Given the description of an element on the screen output the (x, y) to click on. 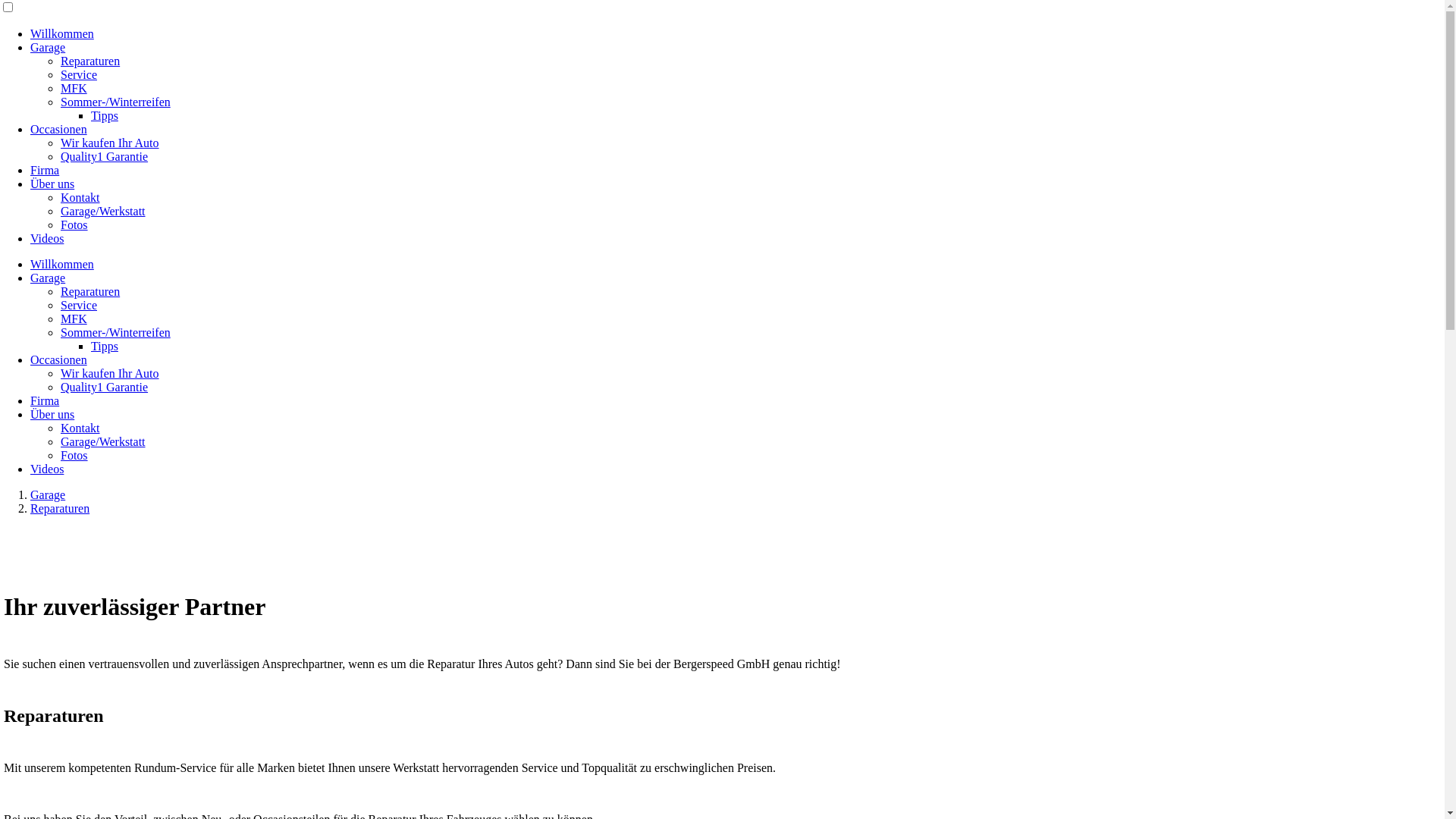
Firma Element type: text (44, 400)
Tipps Element type: text (104, 345)
Willkommen Element type: text (62, 33)
MFK Element type: text (73, 87)
Occasionen Element type: text (58, 128)
Quality1 Garantie Element type: text (103, 156)
Wir kaufen Ihr Auto Element type: text (109, 373)
MFK Element type: text (73, 318)
Videos Element type: text (46, 238)
Videos Element type: text (46, 468)
Tipps Element type: text (104, 115)
Fotos Element type: text (73, 224)
Quality1 Garantie Element type: text (103, 386)
Garage/Werkstatt Element type: text (102, 210)
Willkommen Element type: text (62, 263)
Reparaturen Element type: text (89, 60)
Firma Element type: text (44, 169)
Reparaturen Element type: text (89, 291)
Garage Element type: text (47, 46)
Sommer-/Winterreifen Element type: text (115, 101)
Kontakt Element type: text (80, 427)
Fotos Element type: text (73, 454)
Sommer-/Winterreifen Element type: text (115, 332)
Garage/Werkstatt Element type: text (102, 441)
Kontakt Element type: text (80, 197)
Garage Element type: text (47, 494)
Wir kaufen Ihr Auto Element type: text (109, 142)
Service Element type: text (78, 74)
Occasionen Element type: text (58, 359)
Reparaturen Element type: text (59, 508)
Garage Element type: text (47, 277)
Service Element type: text (78, 304)
